Given the description of an element on the screen output the (x, y) to click on. 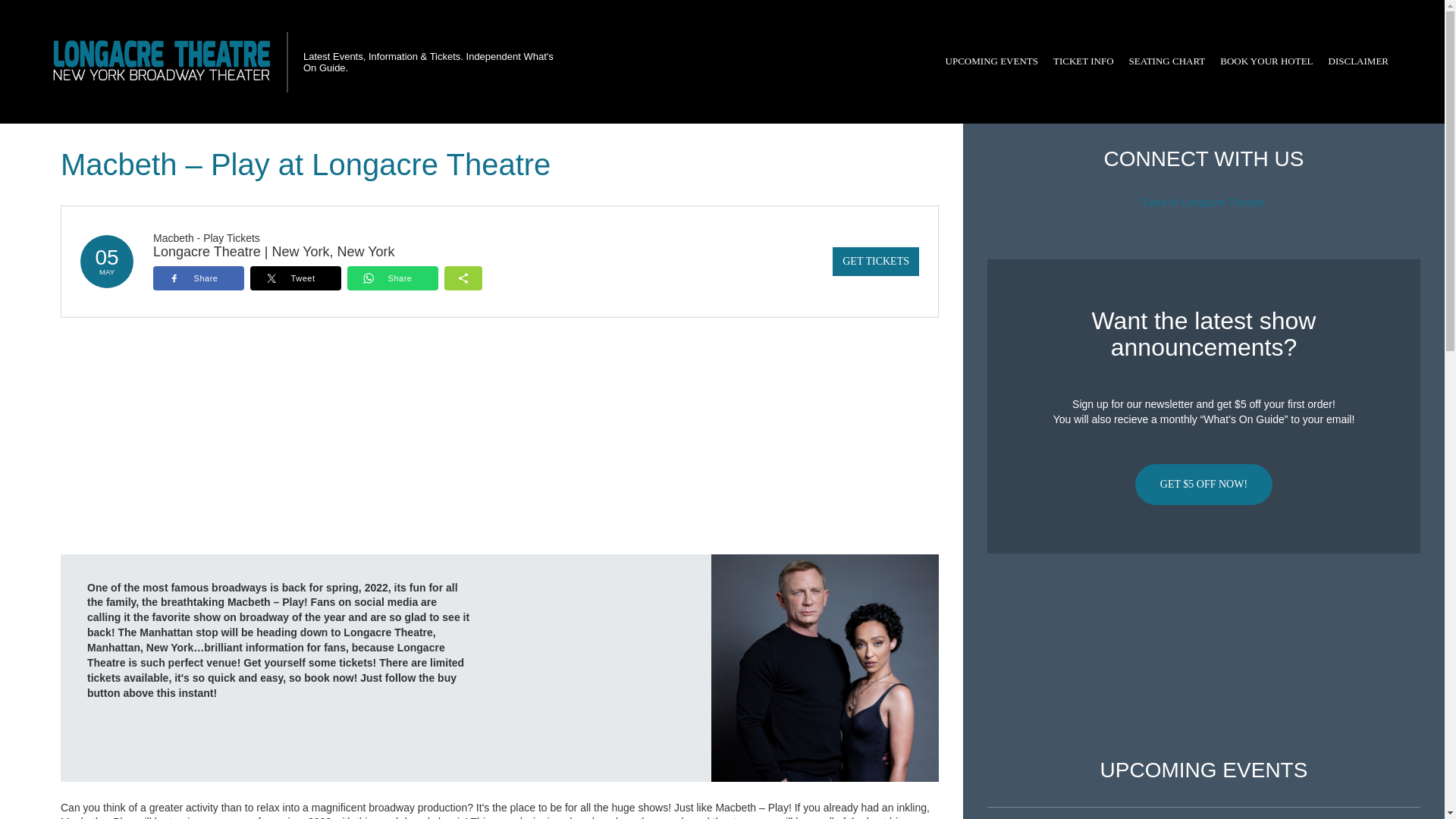
Macbeth - Play Tickets (206, 237)
BOOK YOUR HOTEL (1266, 61)
Macbeth - Play at Longacre Theatre (825, 667)
GET TICKETS (875, 261)
TICKET INFO (1083, 61)
UPCOMING EVENTS (991, 61)
Advertisement (1204, 655)
SEATING CHART (1166, 61)
Fans of Longacre Theatre (1203, 202)
DISCLAIMER (1358, 61)
